Given the description of an element on the screen output the (x, y) to click on. 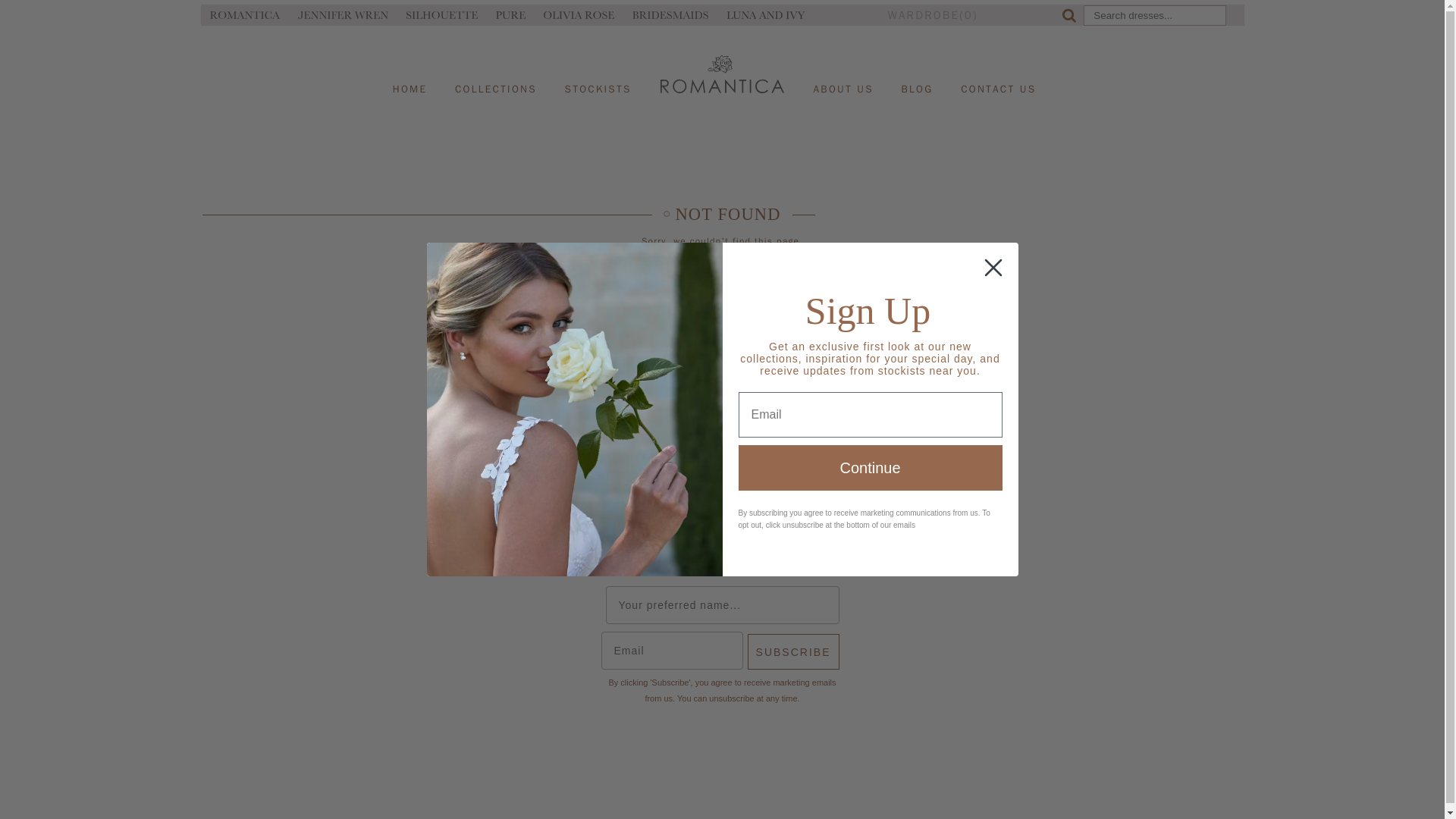
CONTACT US (997, 77)
Close dialog 2 (992, 267)
HOME (409, 77)
PINTEREST-P (797, 379)
TWITTER (694, 379)
ABOUT US (843, 77)
STOCKISTS (598, 77)
Continue (870, 467)
BLOG (916, 77)
TWITTER (694, 378)
Submit (504, 10)
SITE MAP (710, 440)
PRIVACY POLICY (810, 440)
BACK TO HOME (722, 268)
Submit (281, 10)
